Given the description of an element on the screen output the (x, y) to click on. 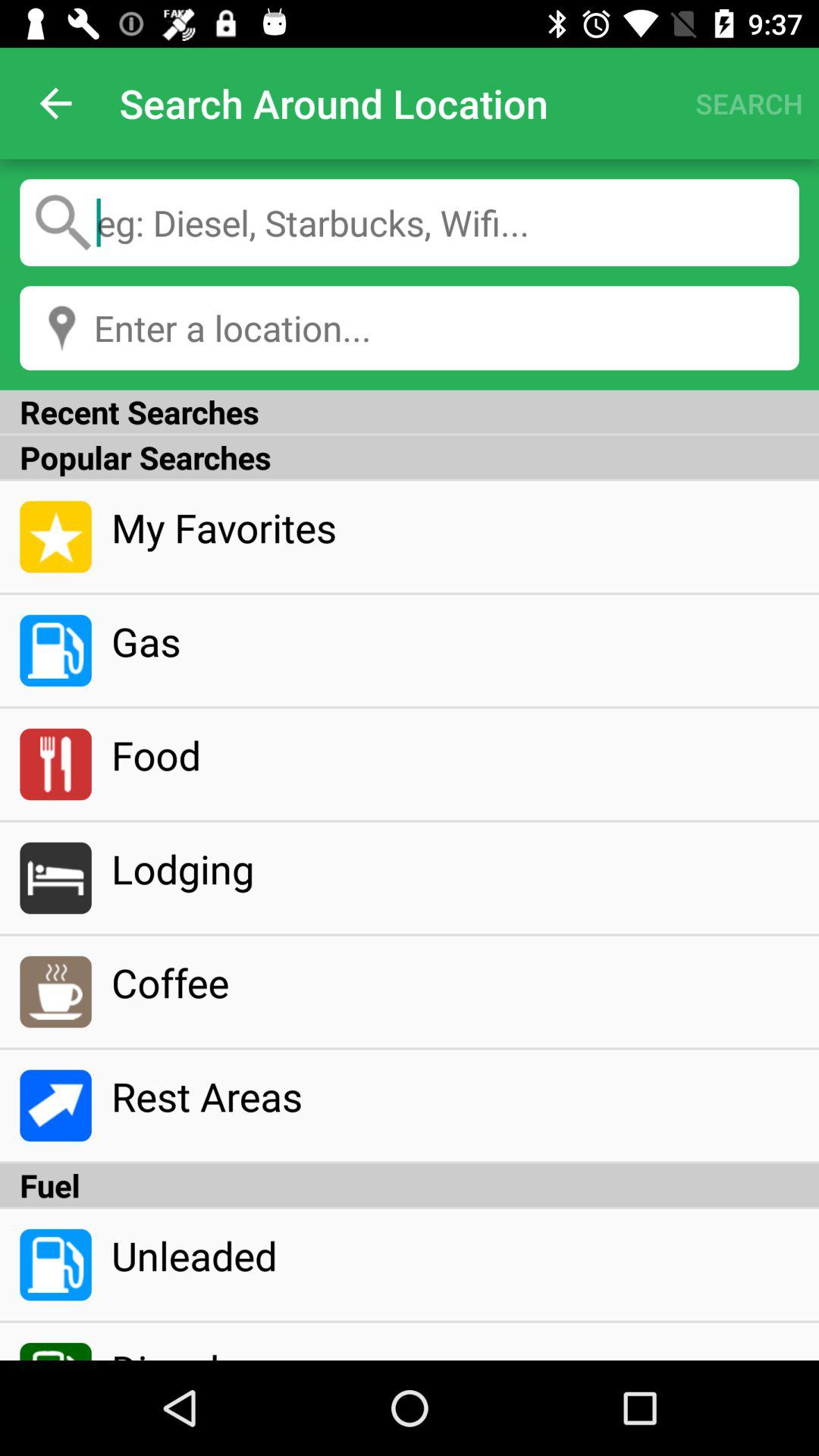
scroll until the gas (455, 640)
